Given the description of an element on the screen output the (x, y) to click on. 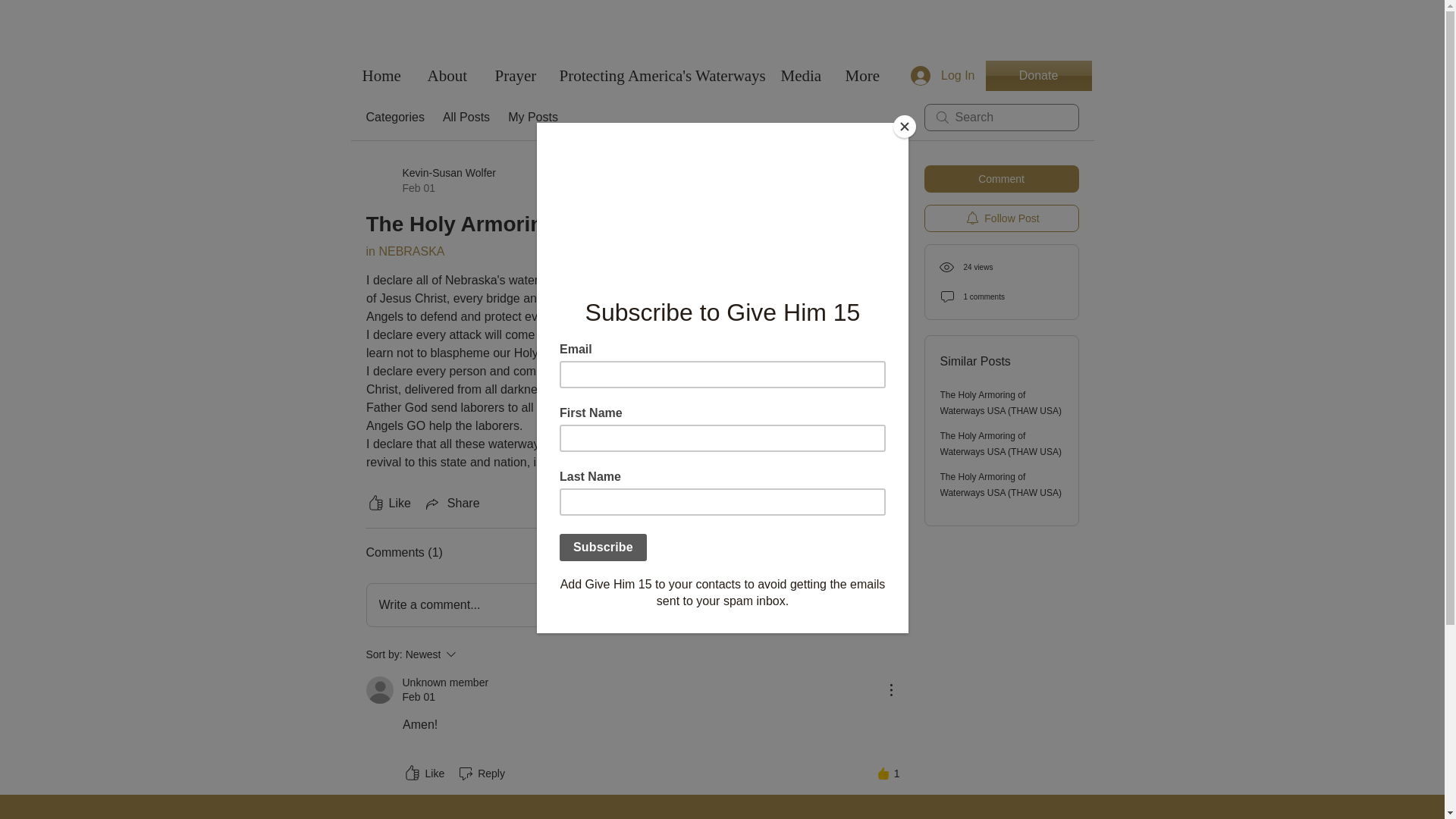
1 (888, 773)
Like (422, 773)
Follow Post (1000, 217)
5 (888, 503)
Write a comment... (632, 604)
About (448, 75)
My Posts (532, 117)
Home (382, 75)
Donate (1038, 75)
Media (800, 75)
Like (430, 180)
Categories (387, 503)
Log In (394, 117)
Comment (942, 75)
